Given the description of an element on the screen output the (x, y) to click on. 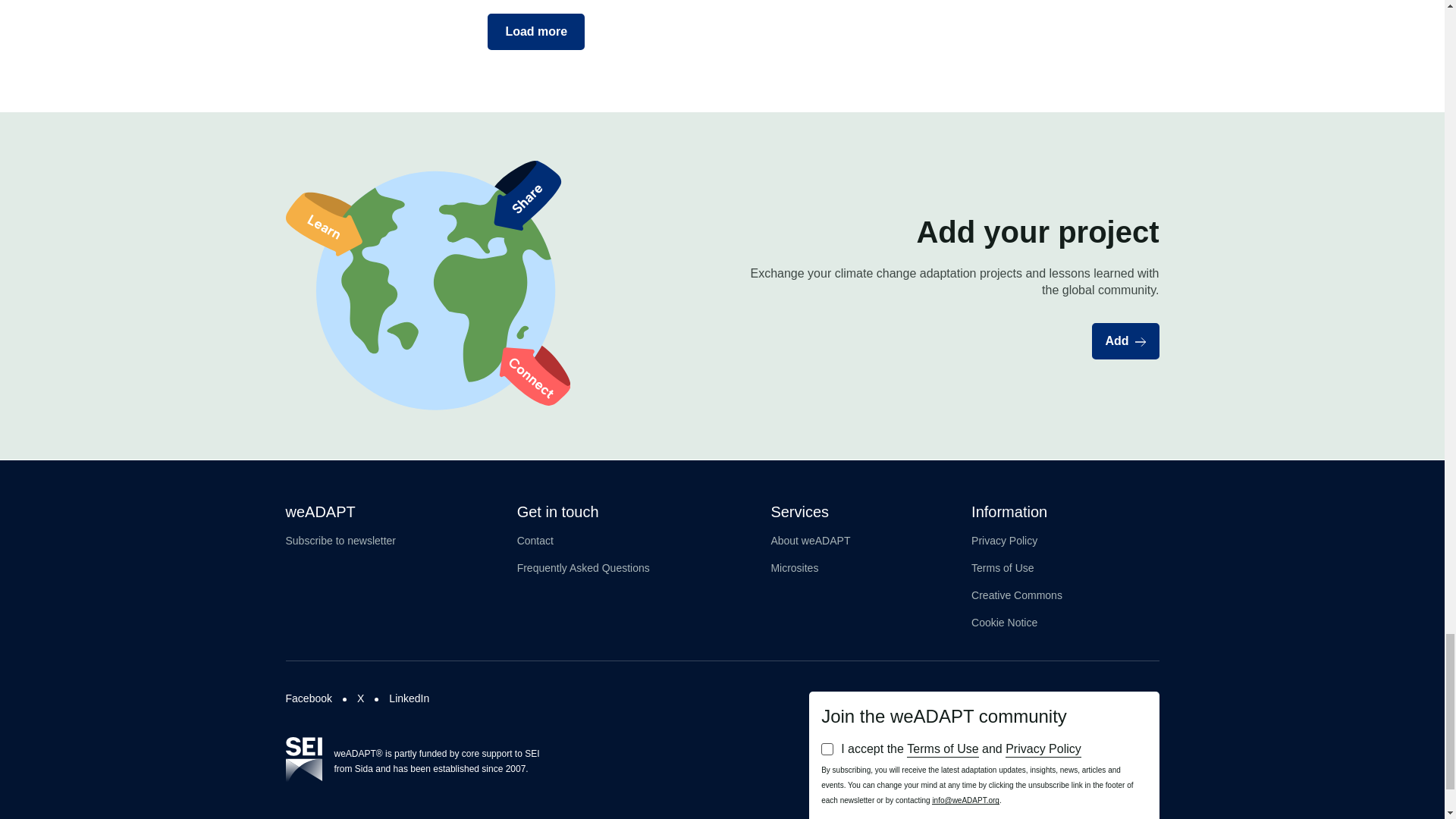
1 (826, 748)
